Given the description of an element on the screen output the (x, y) to click on. 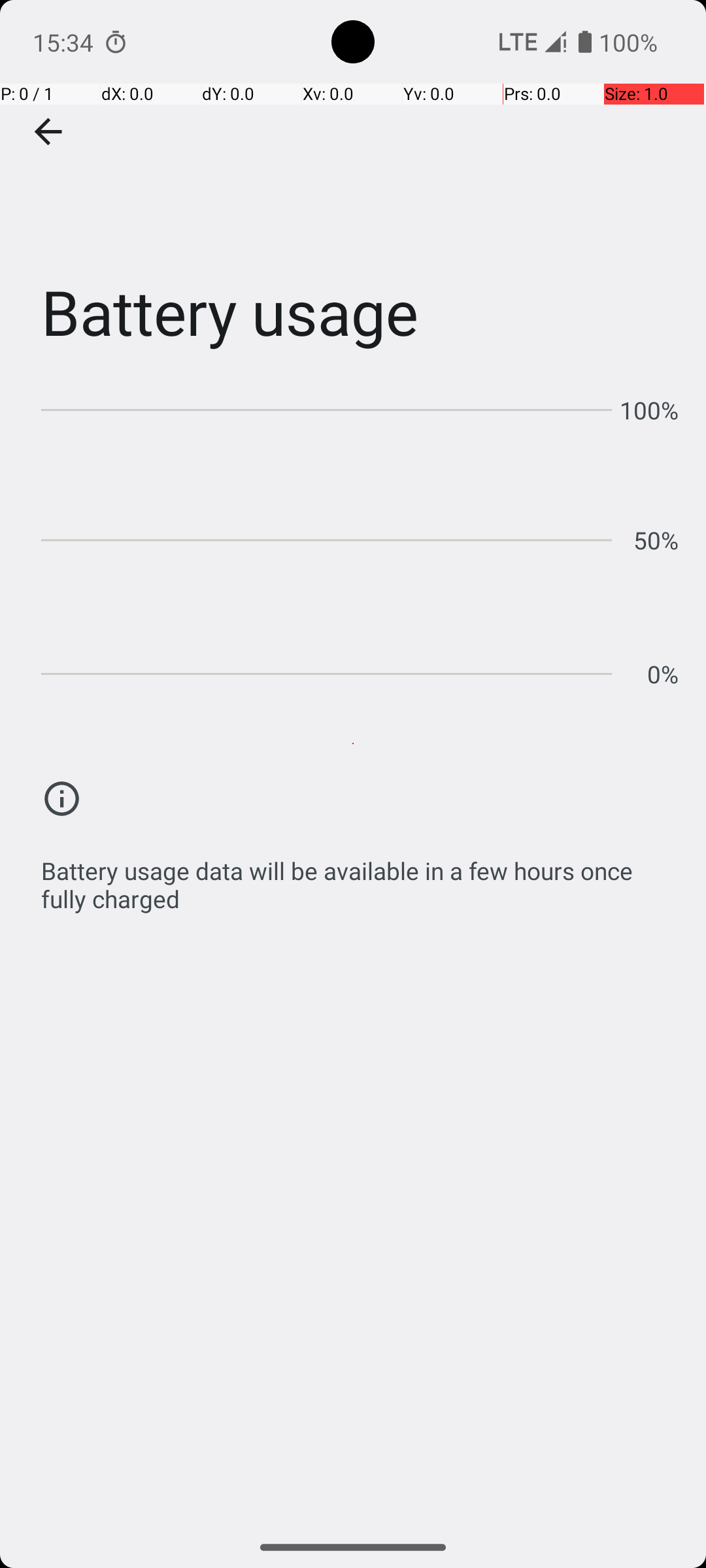
Hourly battery usage chart Element type: android.widget.ImageView (359, 536)
Battery usage data will be available in a few hours once fully charged Element type: android.widget.TextView (359, 877)
